Given the description of an element on the screen output the (x, y) to click on. 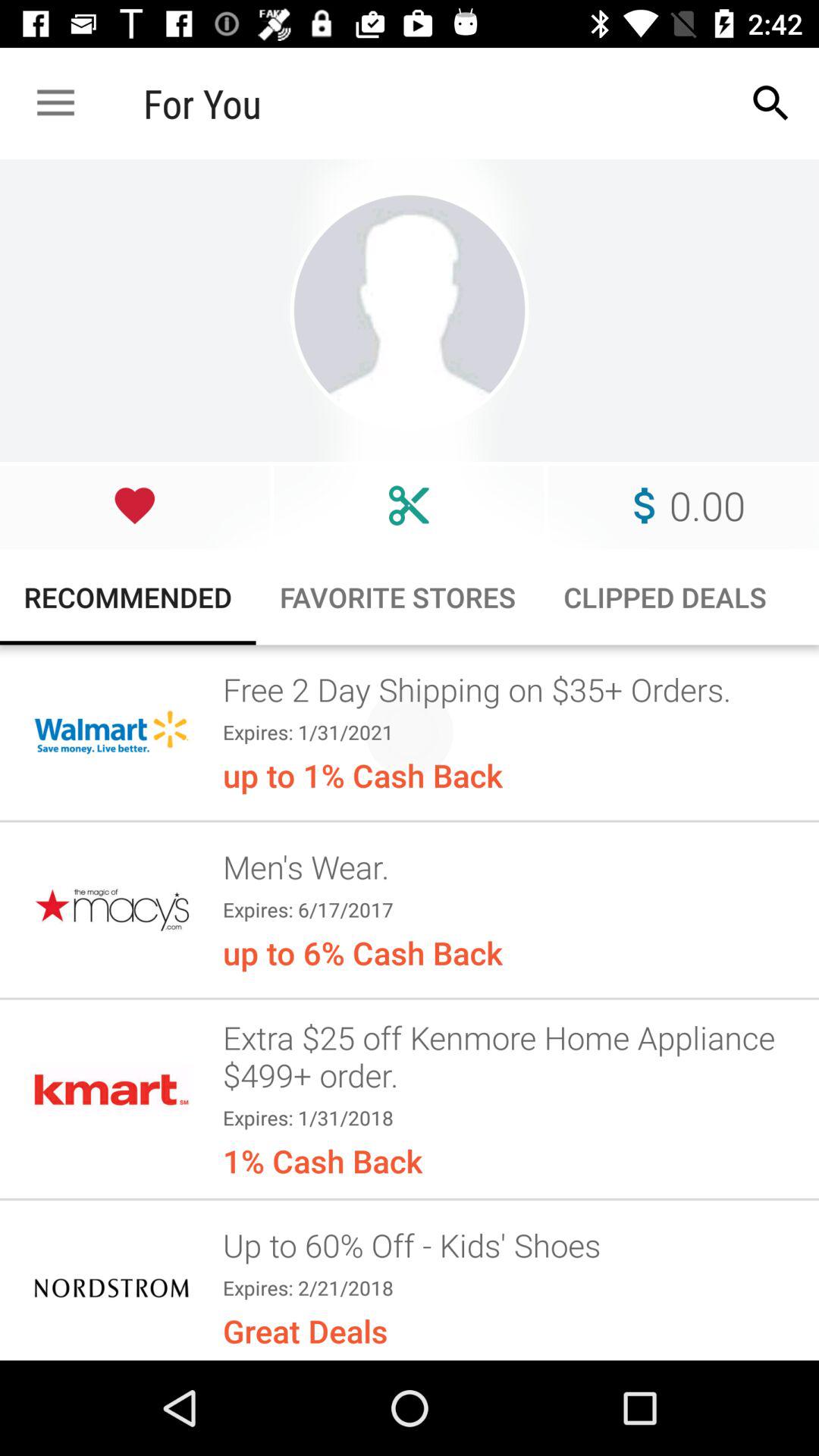
visit their profile (409, 310)
